Given the description of an element on the screen output the (x, y) to click on. 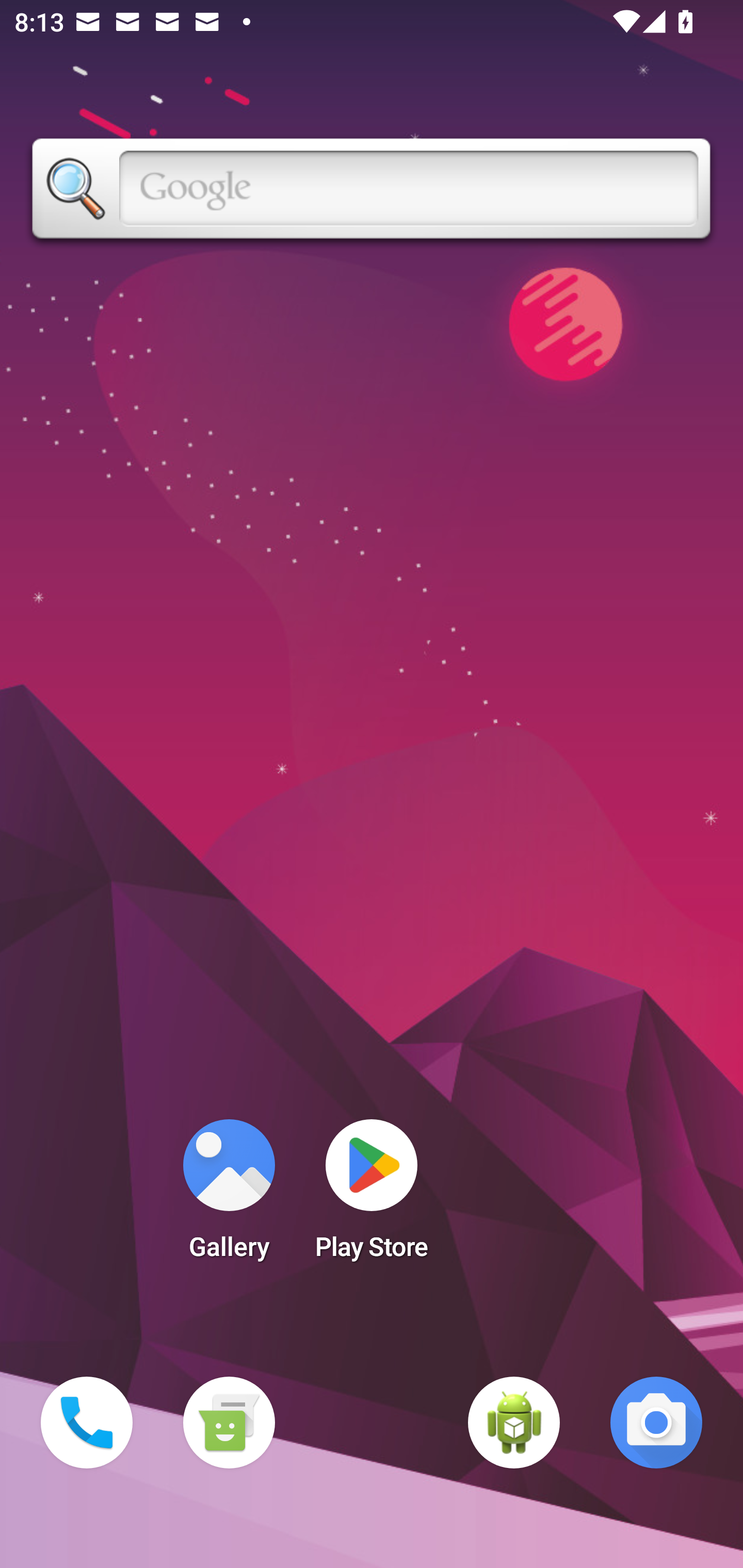
Gallery (228, 1195)
Play Store (371, 1195)
Phone (86, 1422)
Messaging (228, 1422)
WebView Browser Tester (513, 1422)
Camera (656, 1422)
